Given the description of an element on the screen output the (x, y) to click on. 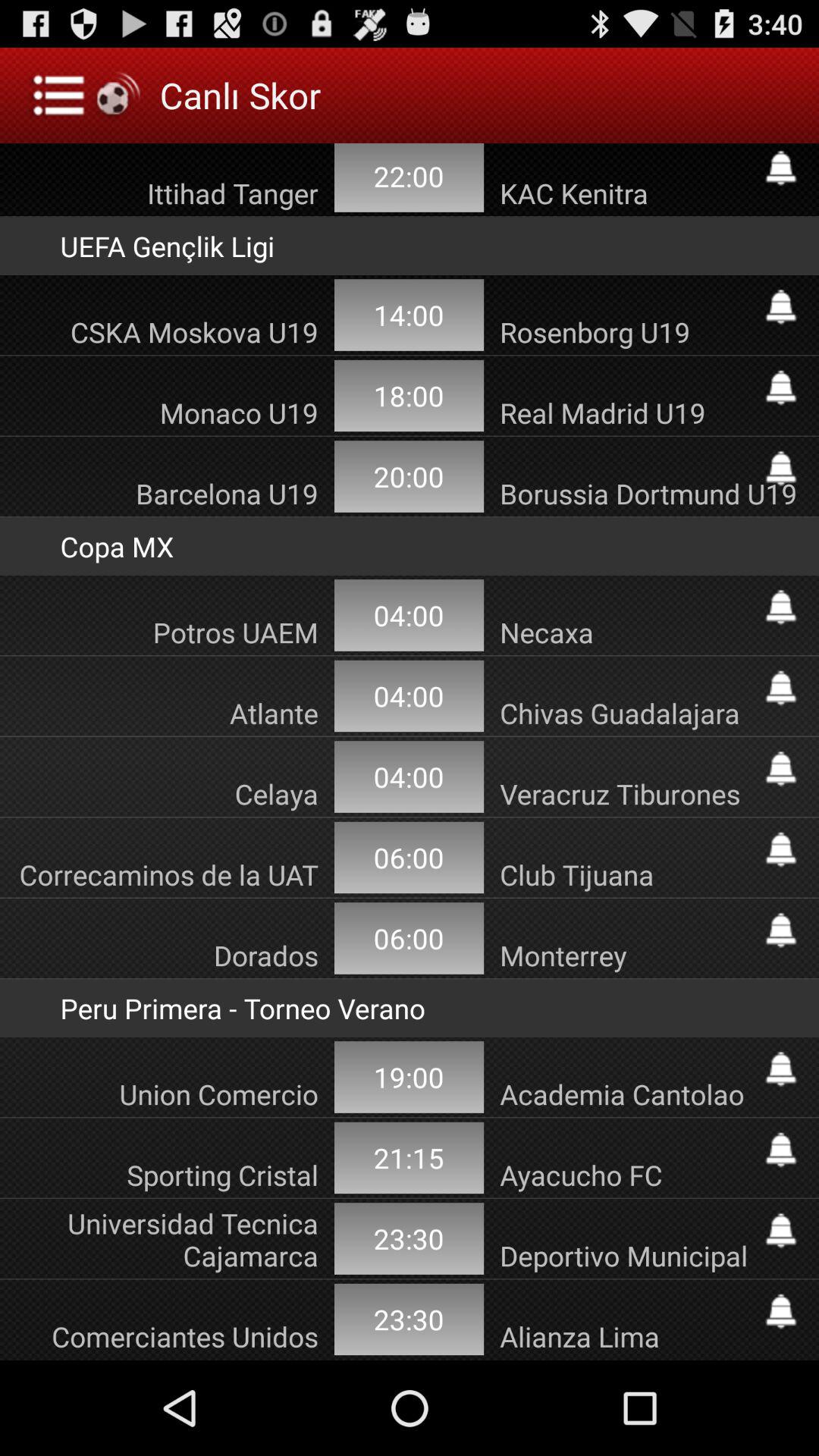
set an alert (780, 768)
